Given the description of an element on the screen output the (x, y) to click on. 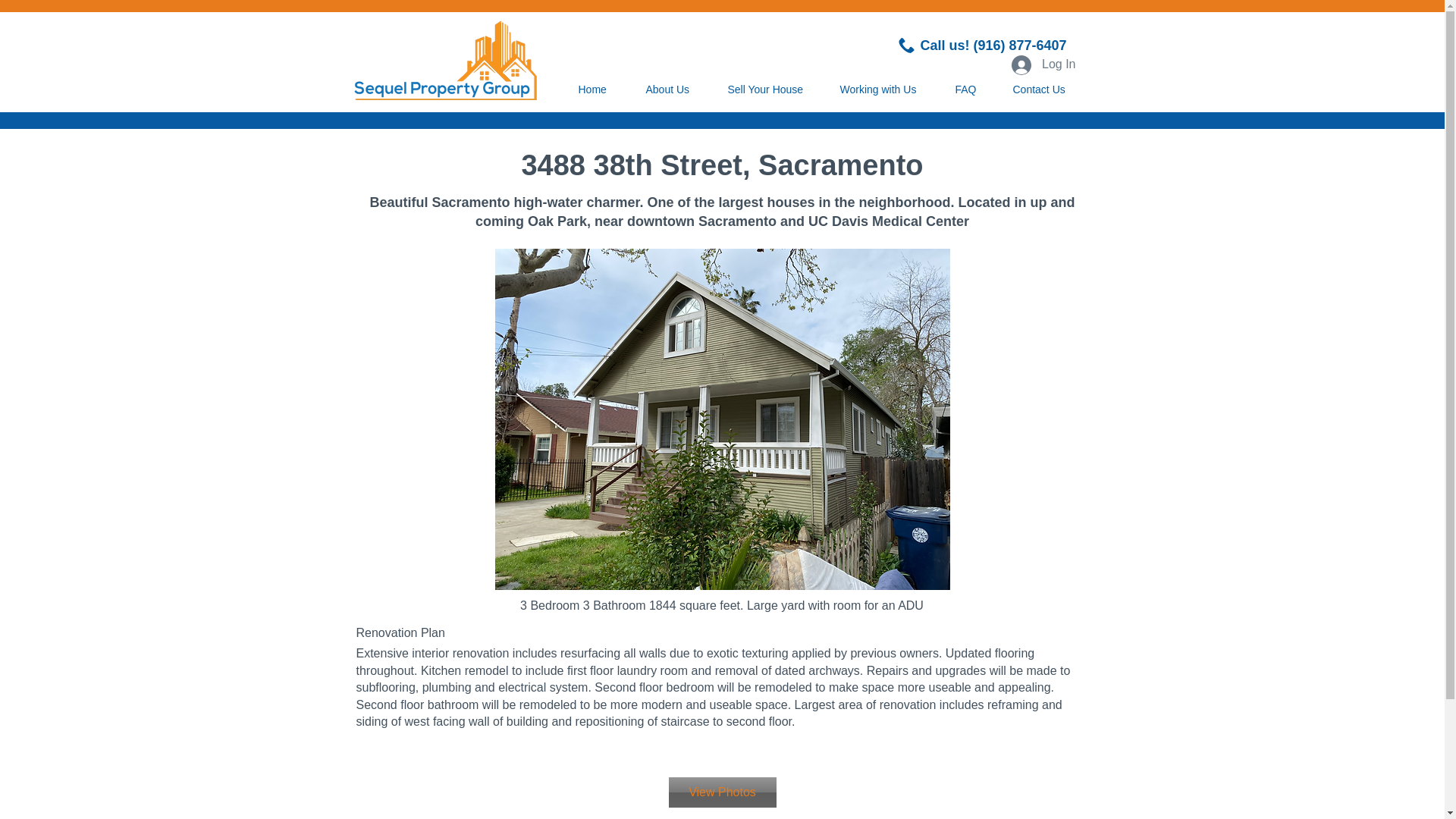
FAQ (972, 89)
Contact Us (1047, 89)
Home (600, 89)
Working with Us (885, 89)
View Photos (722, 792)
Sell Your House (772, 89)
About Us (674, 89)
Log In (1043, 63)
